Given the description of an element on the screen output the (x, y) to click on. 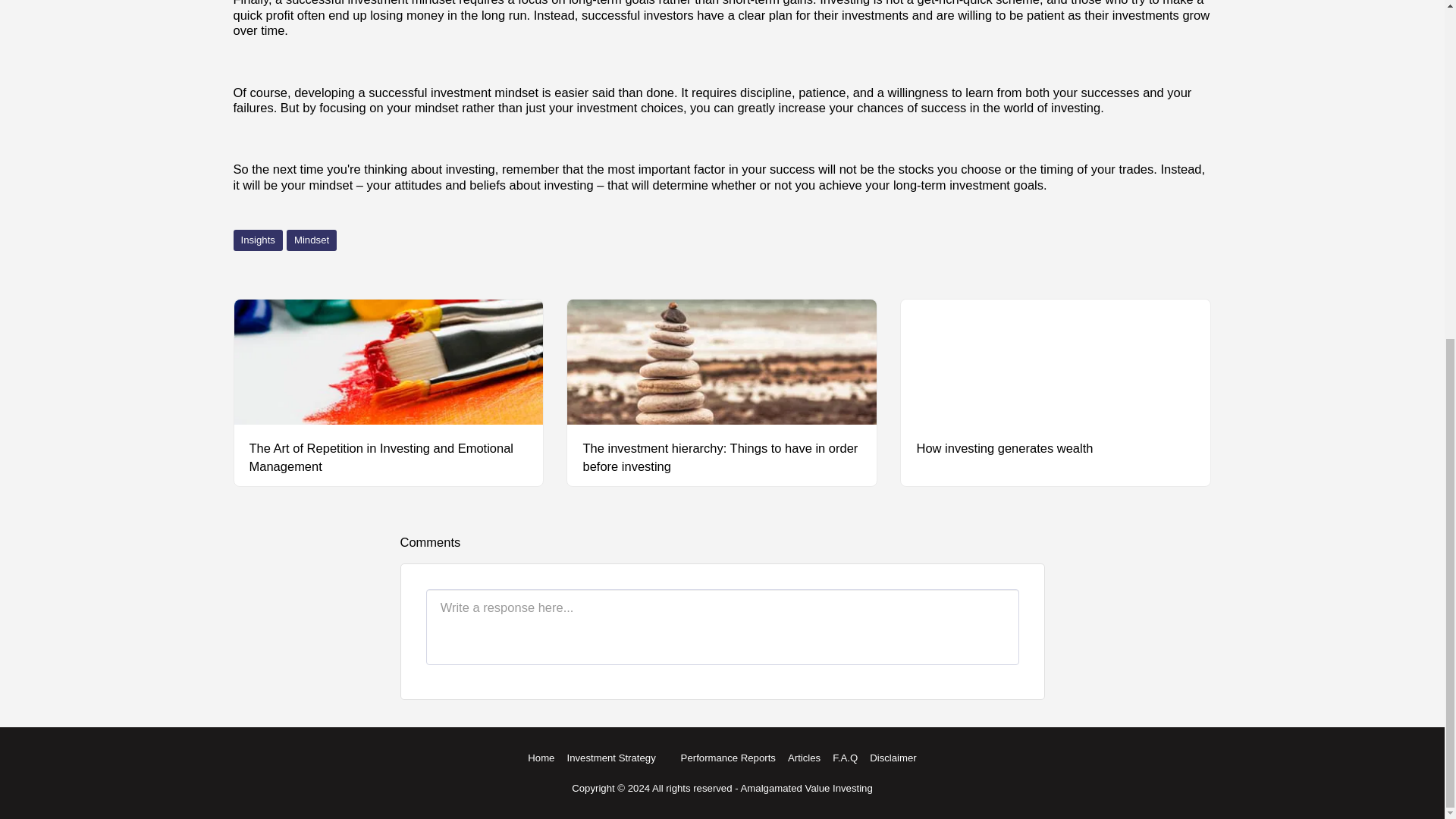
The Art of Repetition in Investing and Emotional Management (387, 457)
How investing generates wealth (1055, 448)
Share on Facebook (1139, 261)
Pin it (1196, 261)
Mindset (311, 240)
Insights (257, 240)
Tweet (1168, 261)
